Given the description of an element on the screen output the (x, y) to click on. 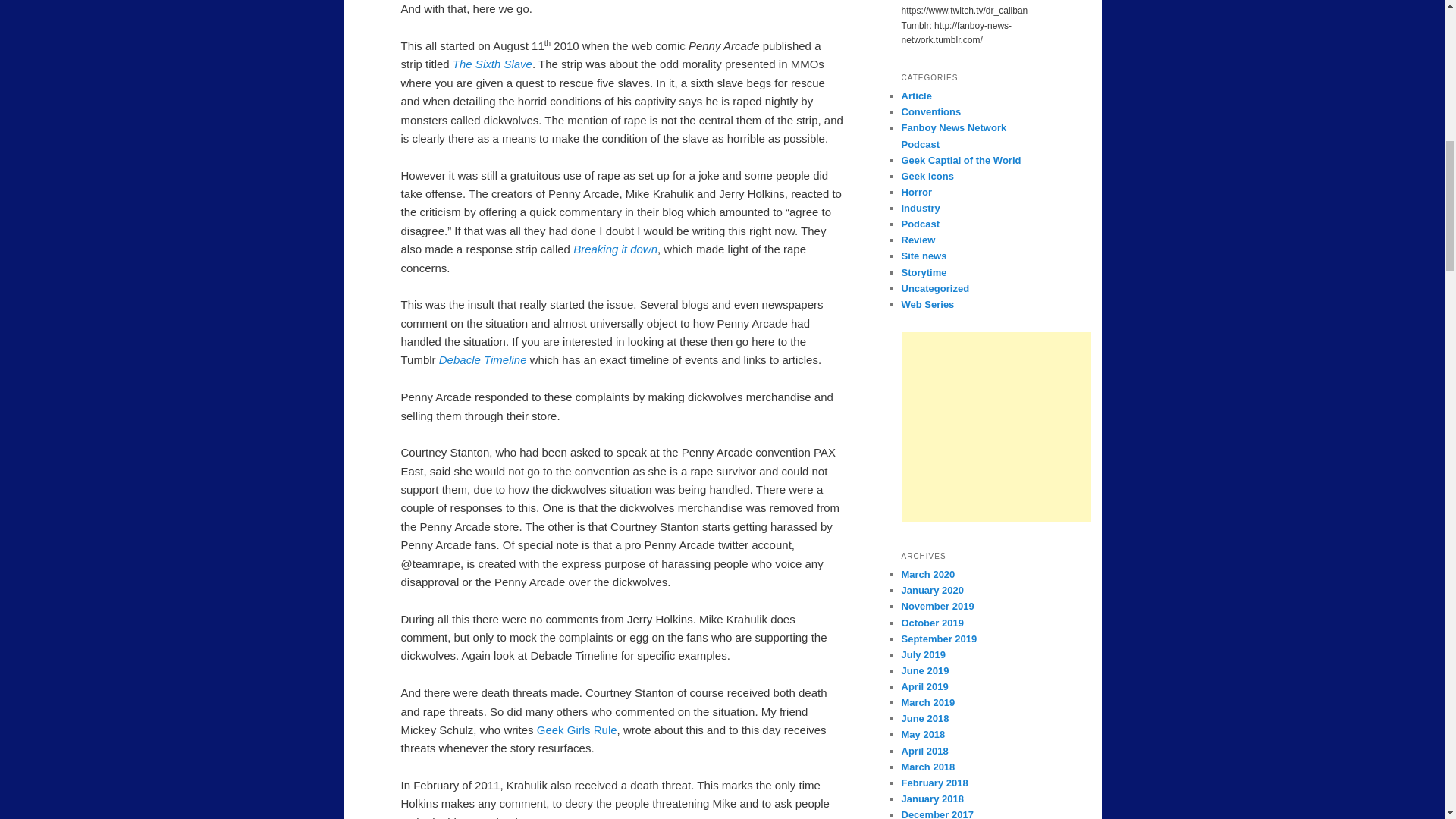
Advertisement (995, 426)
Debacle Timeline (484, 359)
Breaking it down (615, 248)
Review (917, 239)
Fanboy News Network Podcast (953, 135)
The Sixth Slave (492, 63)
Geek Icons (927, 175)
Horror (916, 192)
Geek Girls Rule (577, 729)
Podcast (920, 224)
Industry (920, 207)
Conventions (930, 111)
Article (916, 95)
Site news (923, 255)
Geek Captial of the World (960, 160)
